Given the description of an element on the screen output the (x, y) to click on. 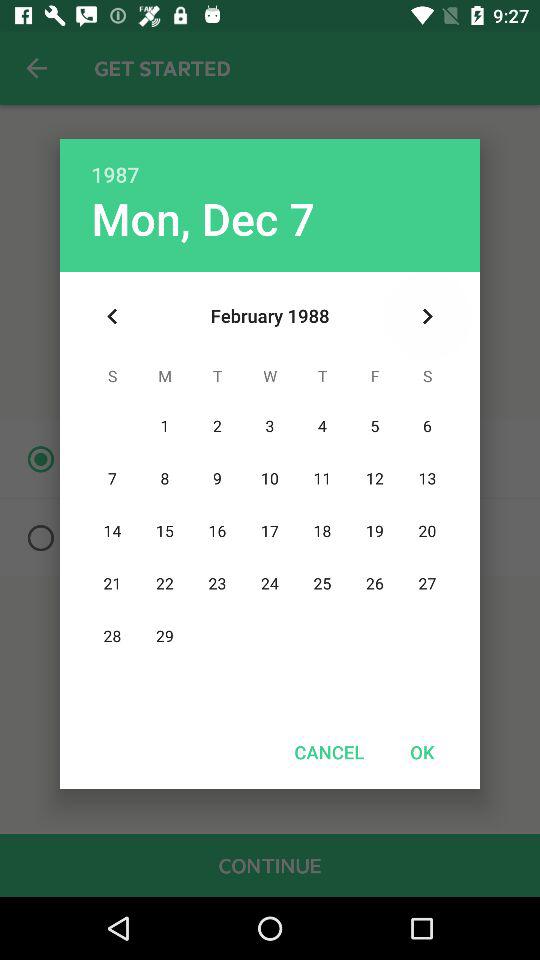
turn on cancel at the bottom (329, 751)
